Given the description of an element on the screen output the (x, y) to click on. 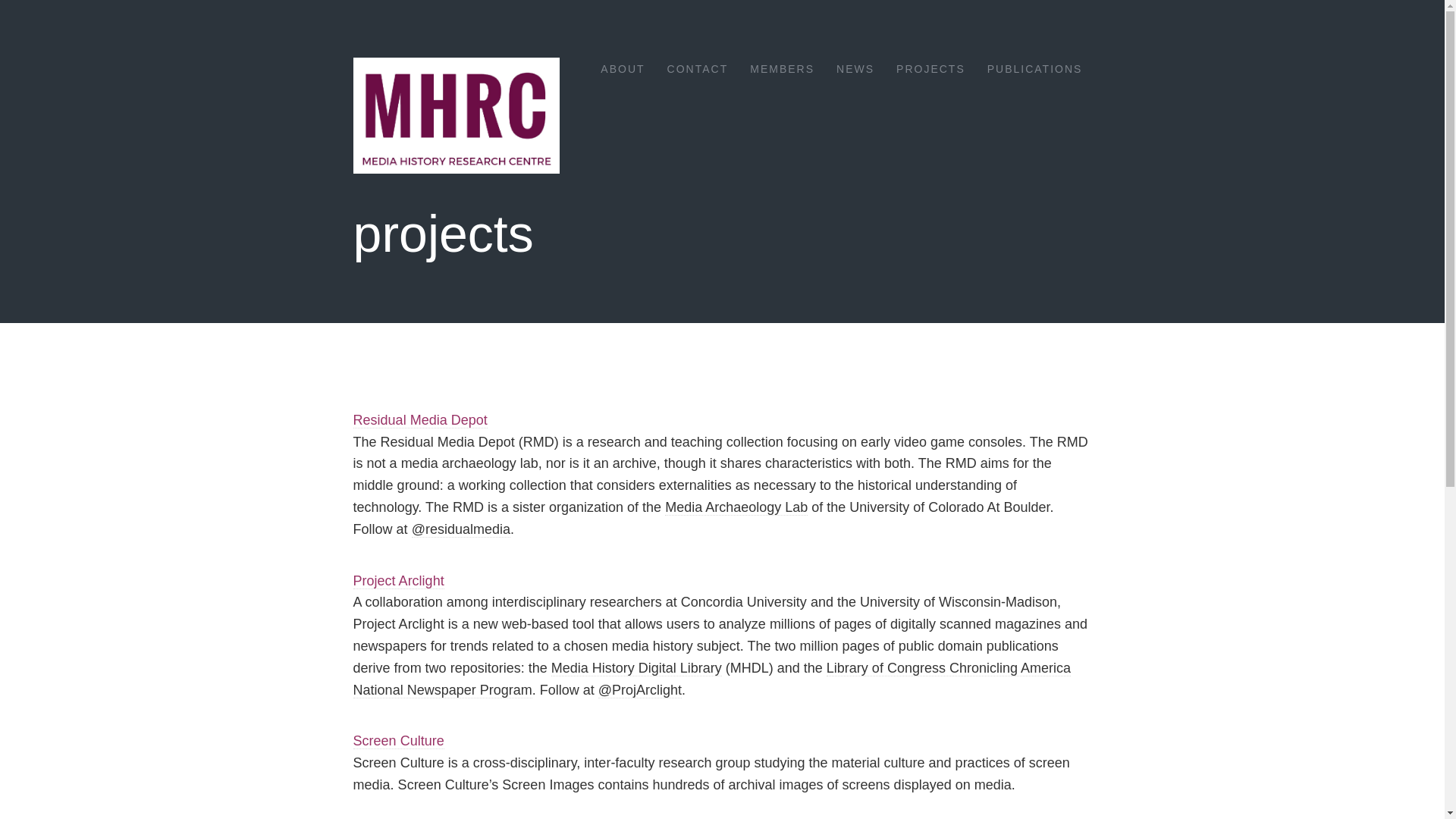
Media History Digital Library (636, 668)
PUBLICATIONS (1035, 69)
ABOUT (622, 69)
NEWS (855, 69)
Media Archaeology Lab (736, 507)
SKIP TO CONTENT (642, 63)
MEMBERS (781, 69)
PROJECTS (930, 69)
Residual Media Depot (420, 420)
Project Arclight (398, 580)
CONTACT (697, 69)
Screen Culture (398, 741)
